Given the description of an element on the screen output the (x, y) to click on. 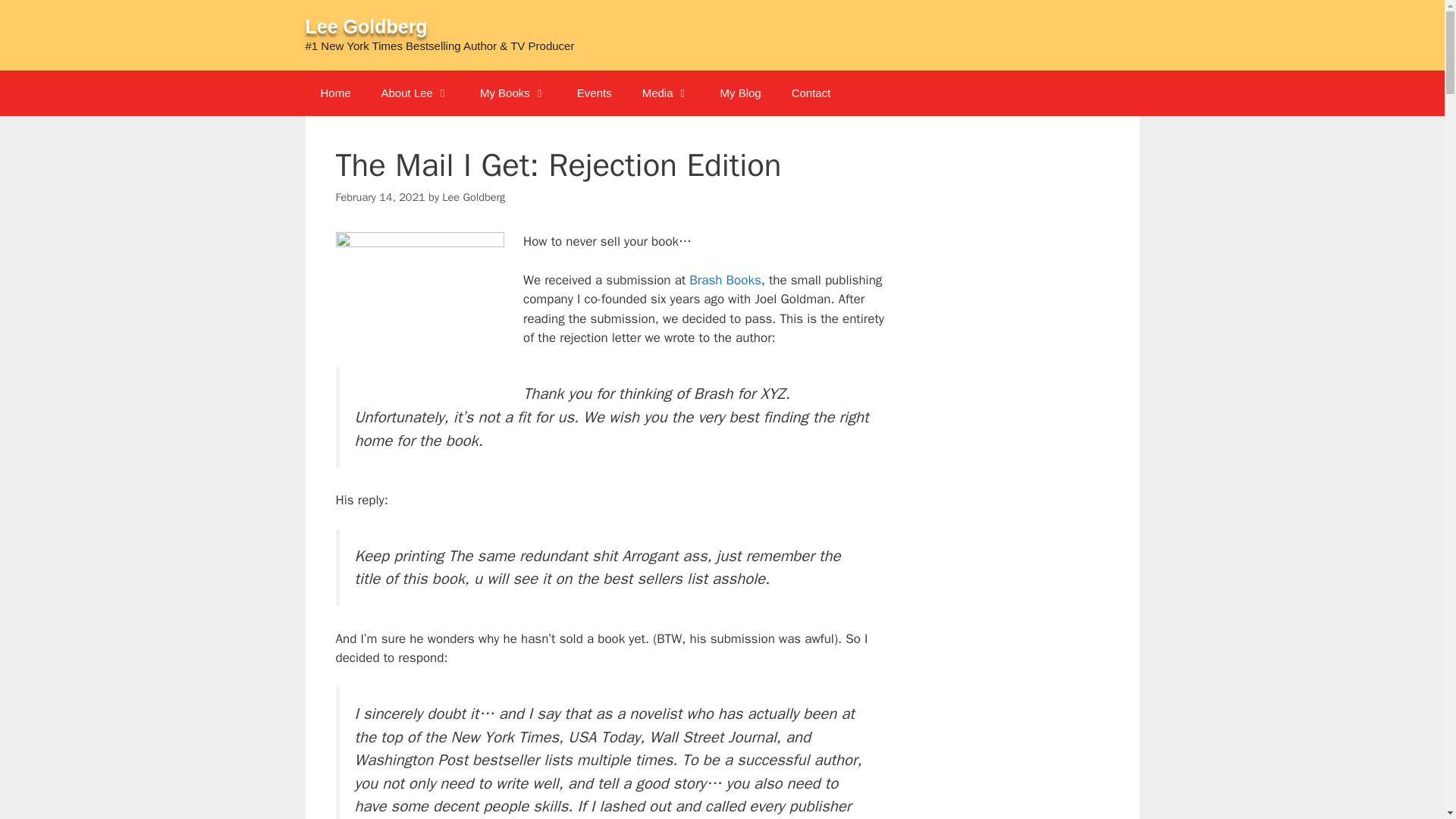
About Lee (415, 92)
My Blog (740, 92)
Brash Books (724, 279)
View all posts by Lee Goldberg (473, 196)
Home (334, 92)
Lee Goldberg (365, 25)
Events (594, 92)
Media (665, 92)
Lee Goldberg (473, 196)
My Books (513, 92)
Contact (810, 92)
